Given the description of an element on the screen output the (x, y) to click on. 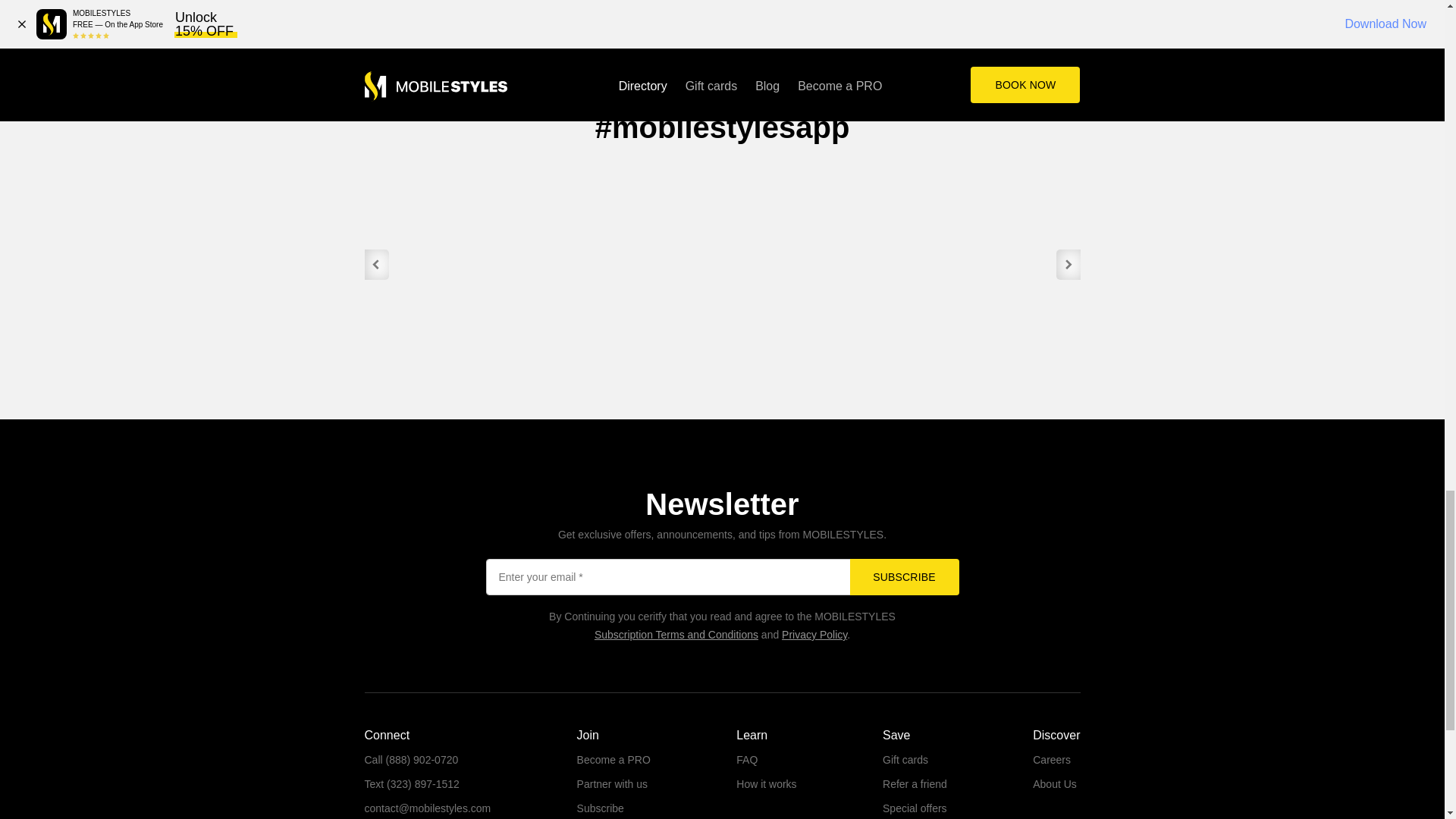
Subscribe (903, 576)
Subscribe (903, 576)
Privacy Policy (814, 634)
Subscription Terms and Conditions (676, 634)
Partner with us (611, 784)
Become a PRO (613, 759)
